Given the description of an element on the screen output the (x, y) to click on. 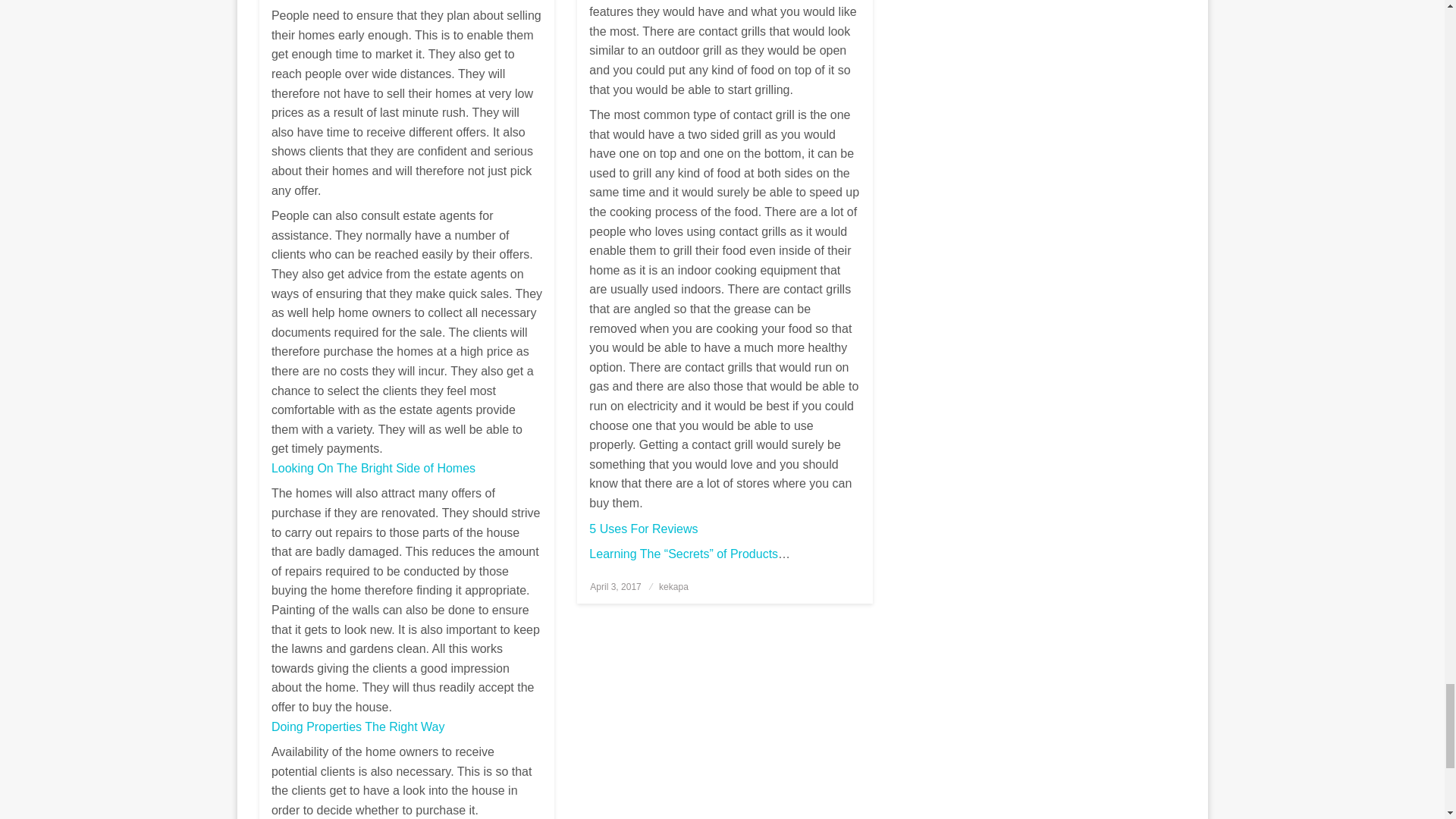
kekapa (673, 586)
